Given the description of an element on the screen output the (x, y) to click on. 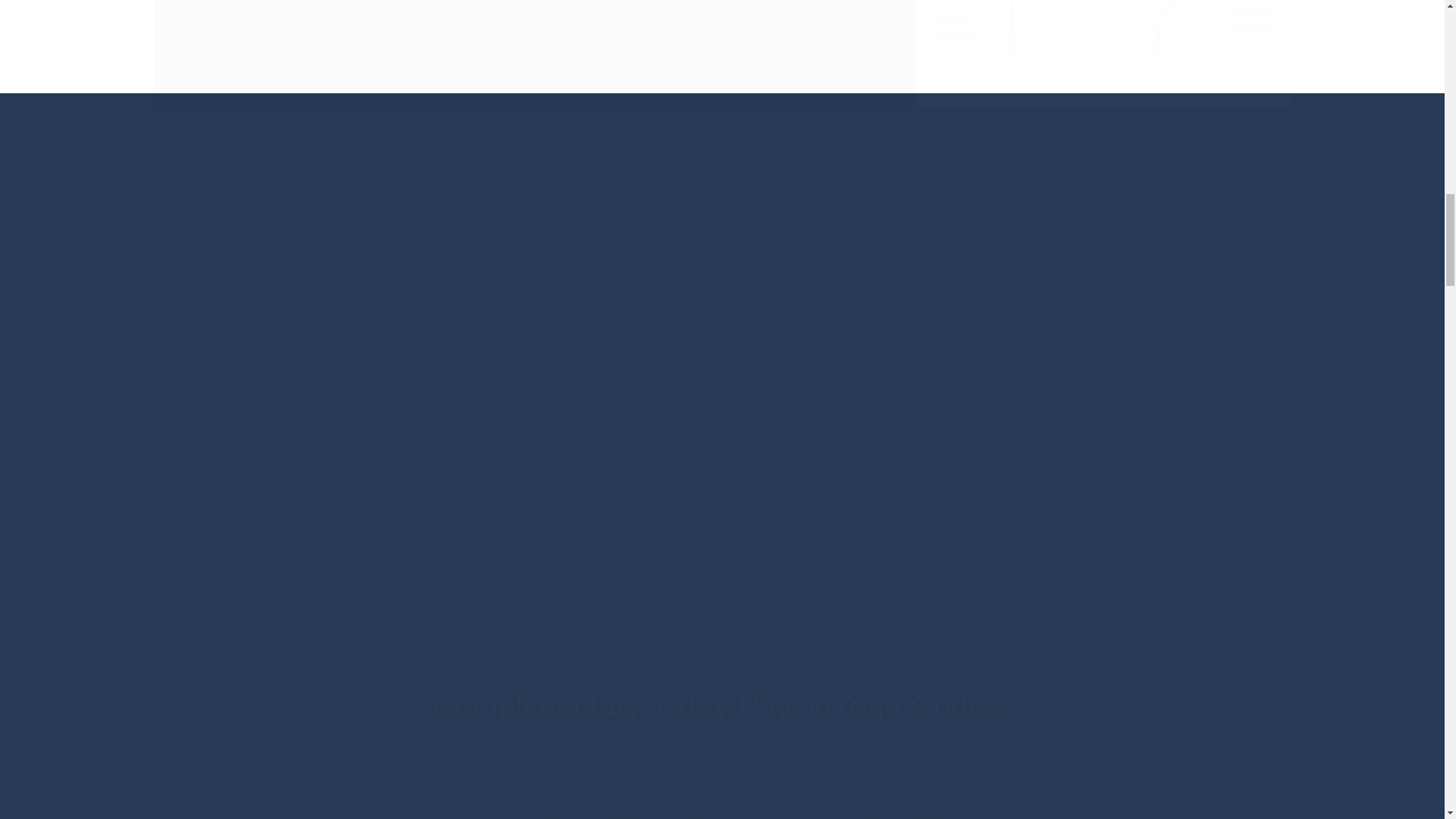
Complimentary 7-day PhysioYoga Course (721, 704)
